Given the description of an element on the screen output the (x, y) to click on. 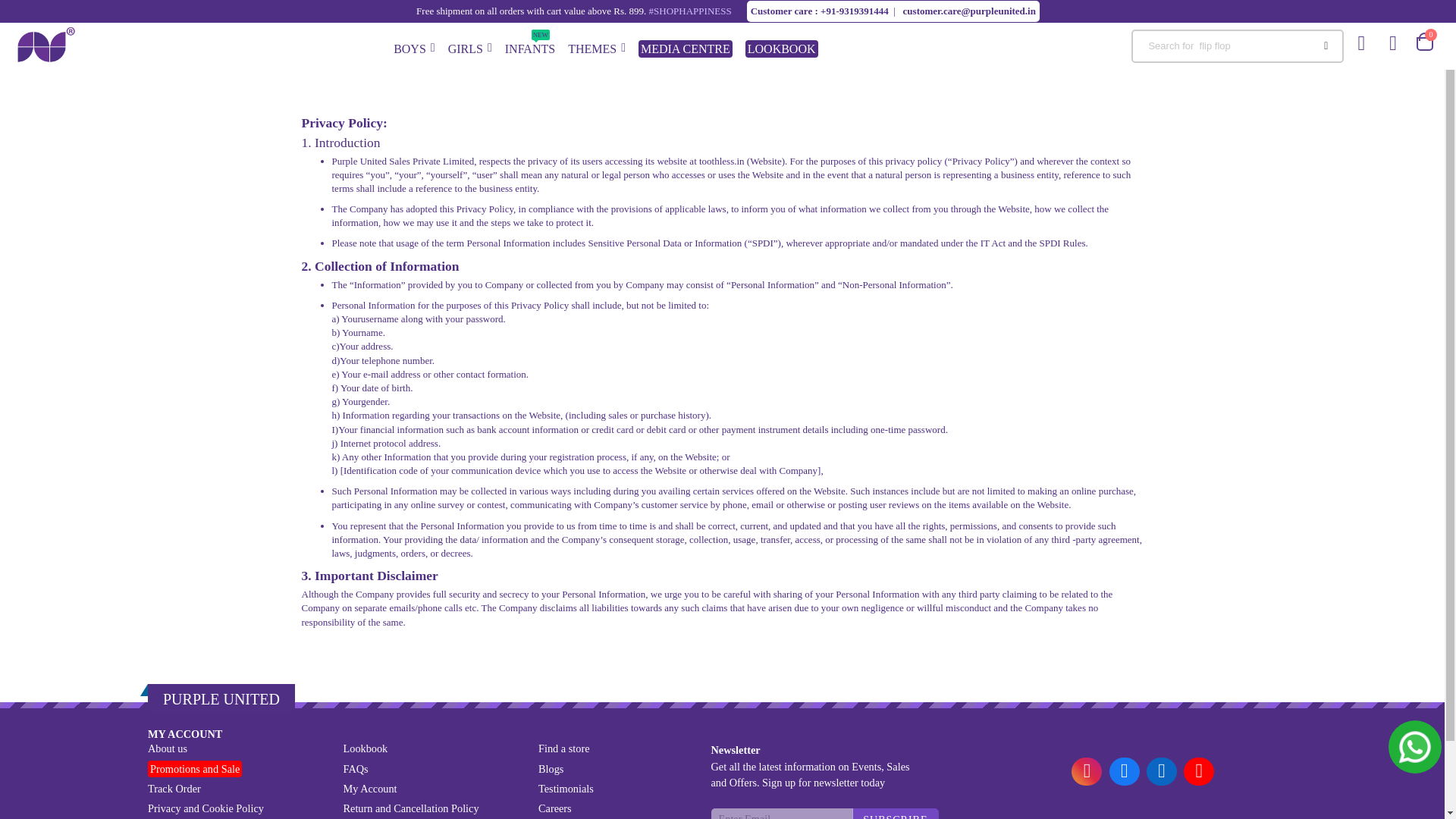
Girls (529, 45)
GIRLS (469, 45)
Boys (469, 45)
BOYS (414, 45)
THEMES (414, 45)
